Given the description of an element on the screen output the (x, y) to click on. 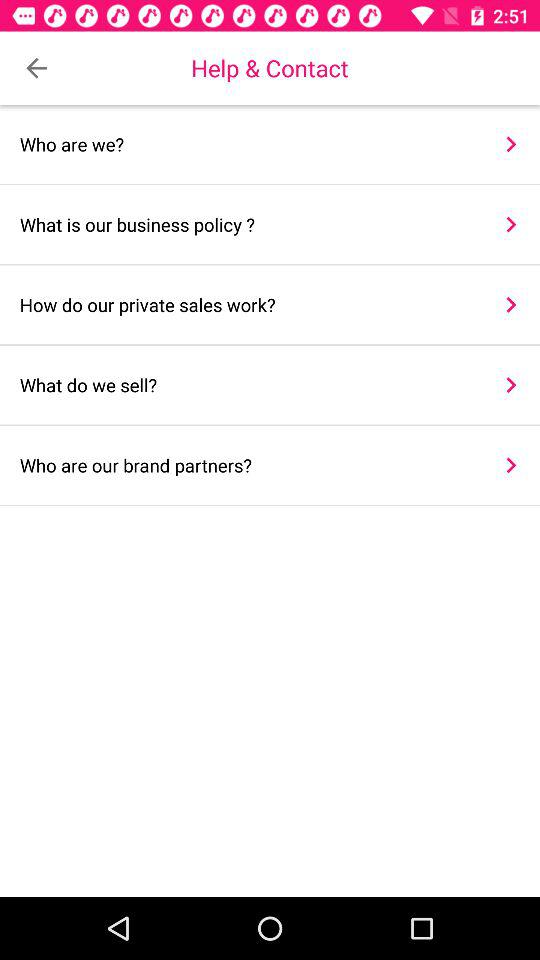
launch item below the what do we (510, 465)
